Given the description of an element on the screen output the (x, y) to click on. 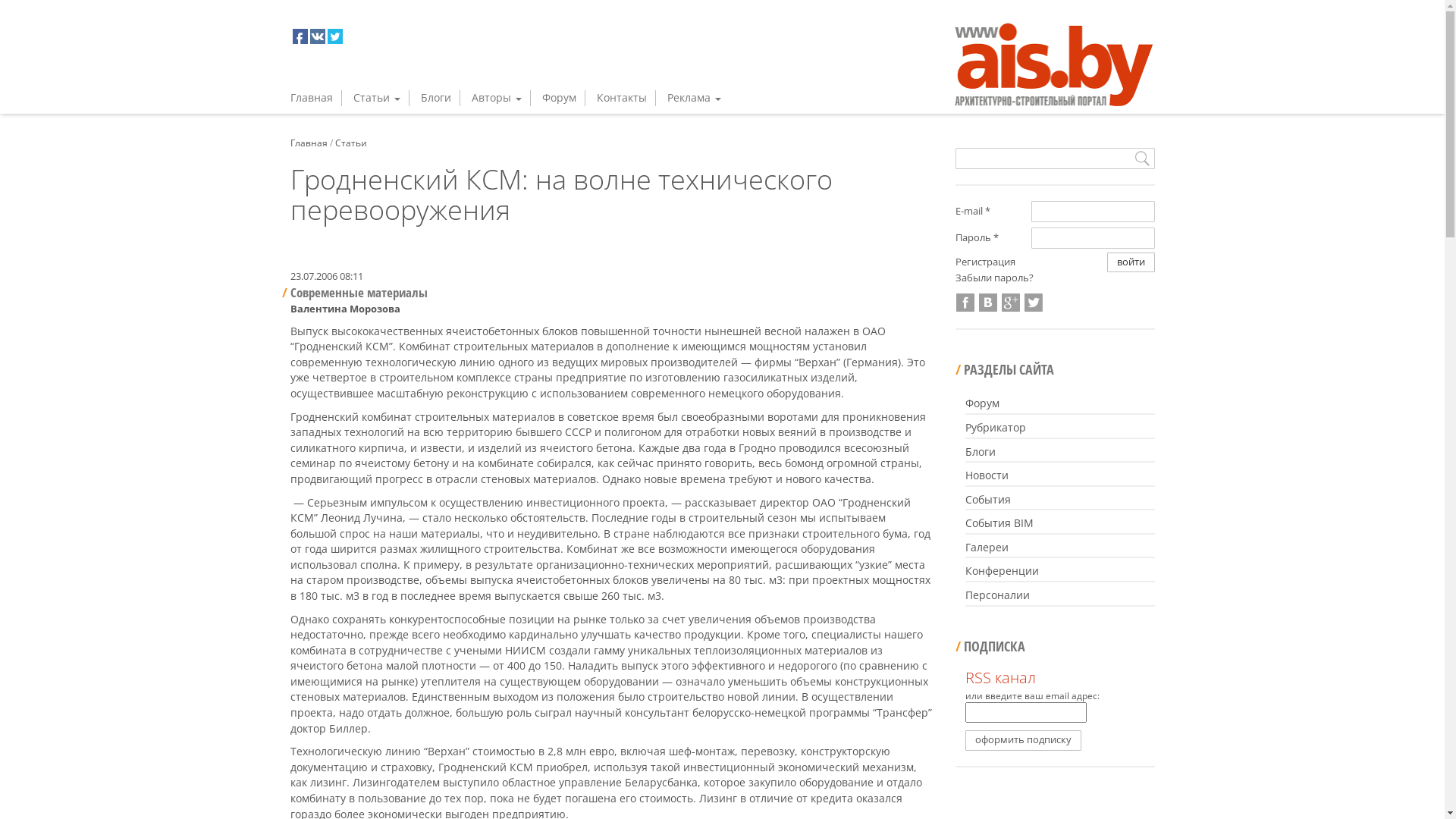
Facebook Element type: hover (965, 302)
Google Element type: hover (1010, 302)
Twitter Element type: hover (1033, 302)
